Given the description of an element on the screen output the (x, y) to click on. 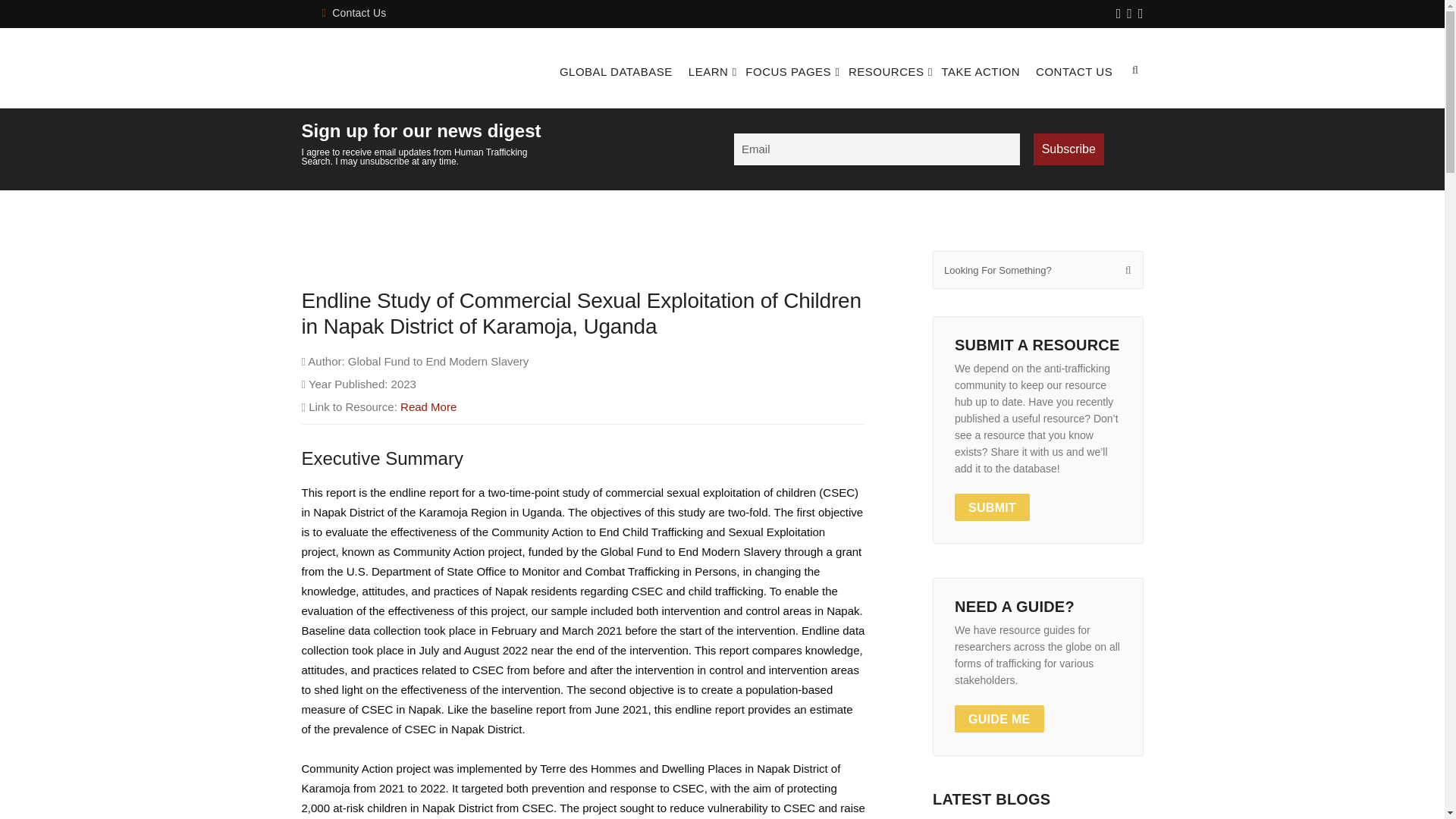
GLOBAL DATABASE (616, 71)
Subscribe (1067, 149)
Contact Us (353, 12)
FOCUS PAGES (788, 71)
